Given the description of an element on the screen output the (x, y) to click on. 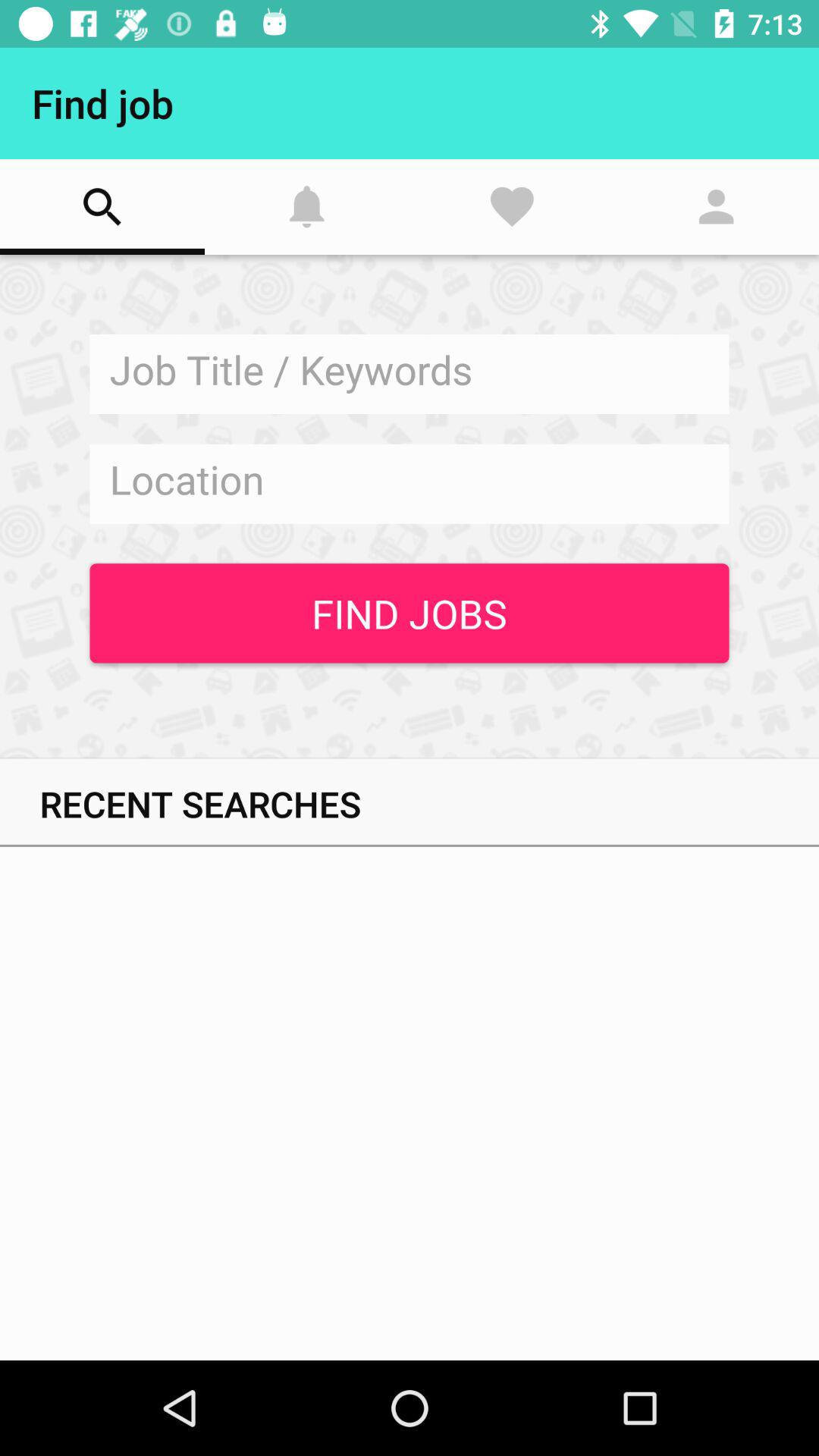
search by job type (409, 374)
